Given the description of an element on the screen output the (x, y) to click on. 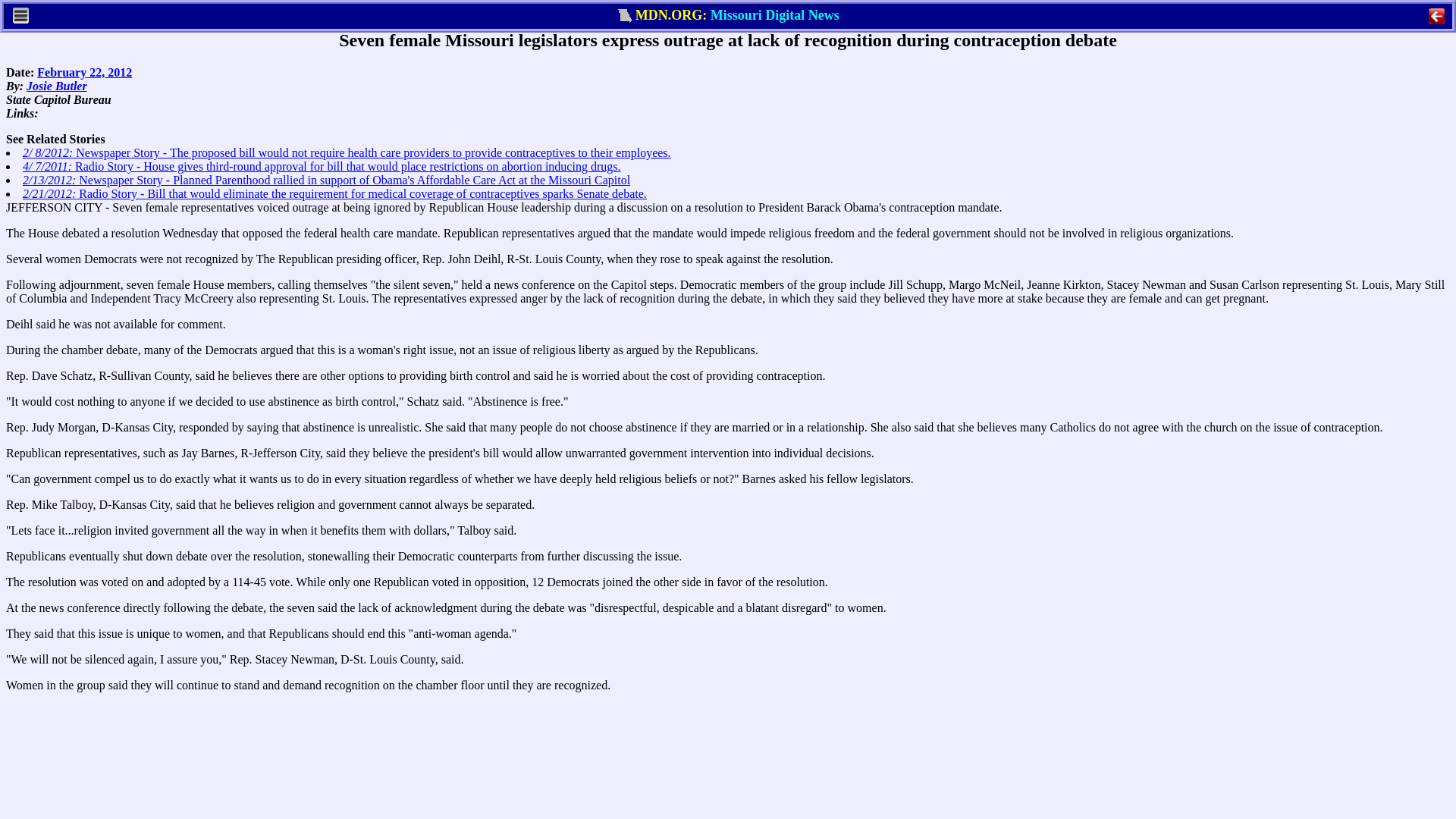
Josie Butler (56, 85)
February 22, 2012 (84, 72)
